Given the description of an element on the screen output the (x, y) to click on. 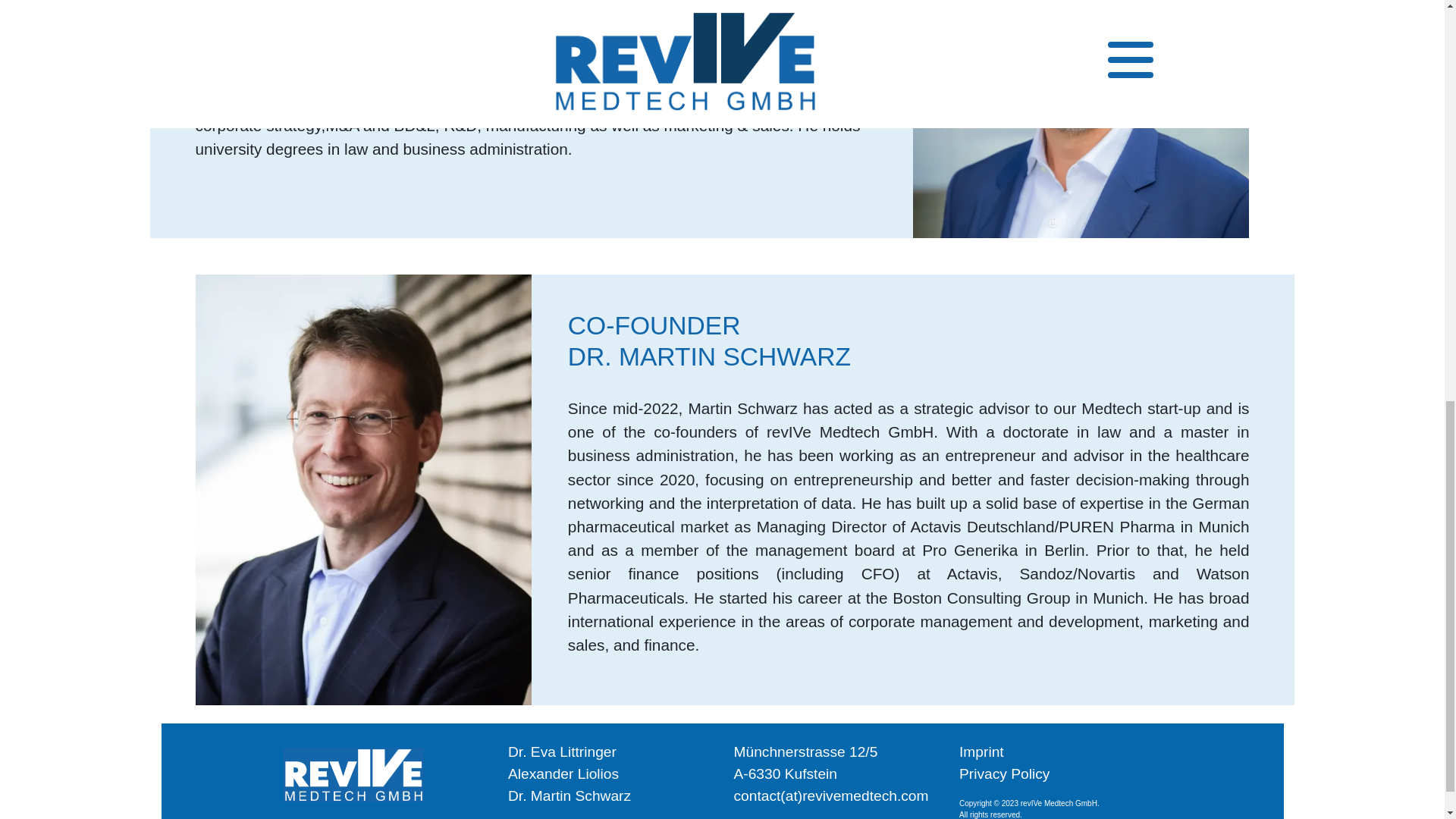
Imprint (981, 751)
Alexander Liolios (563, 811)
Dr. Eva Littringer (561, 795)
Privacy Policy (1004, 773)
